Given the description of an element on the screen output the (x, y) to click on. 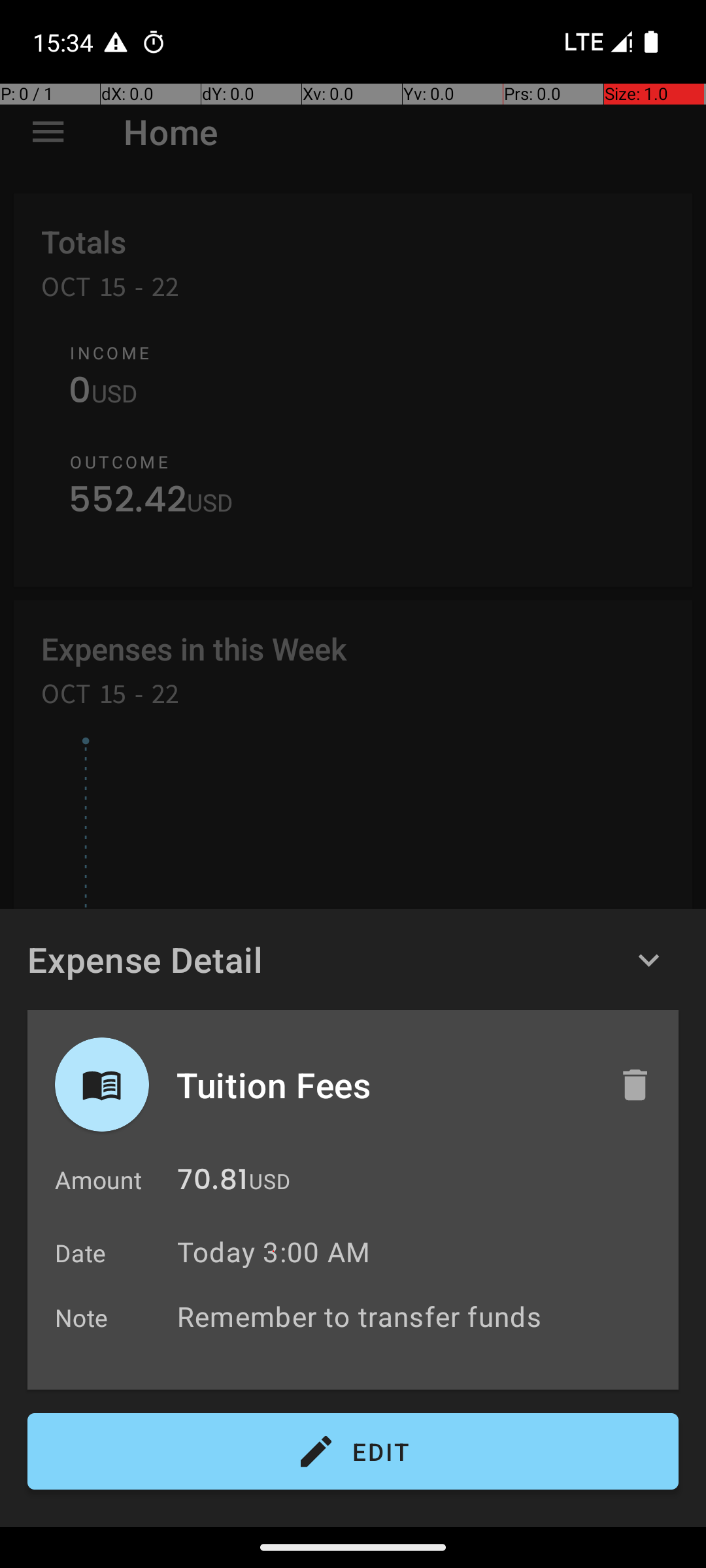
Tuition Fees Element type: android.widget.TextView (383, 1084)
70.81 Element type: android.widget.TextView (212, 1182)
Today 3:00 AM Element type: android.widget.TextView (273, 1251)
